Given the description of an element on the screen output the (x, y) to click on. 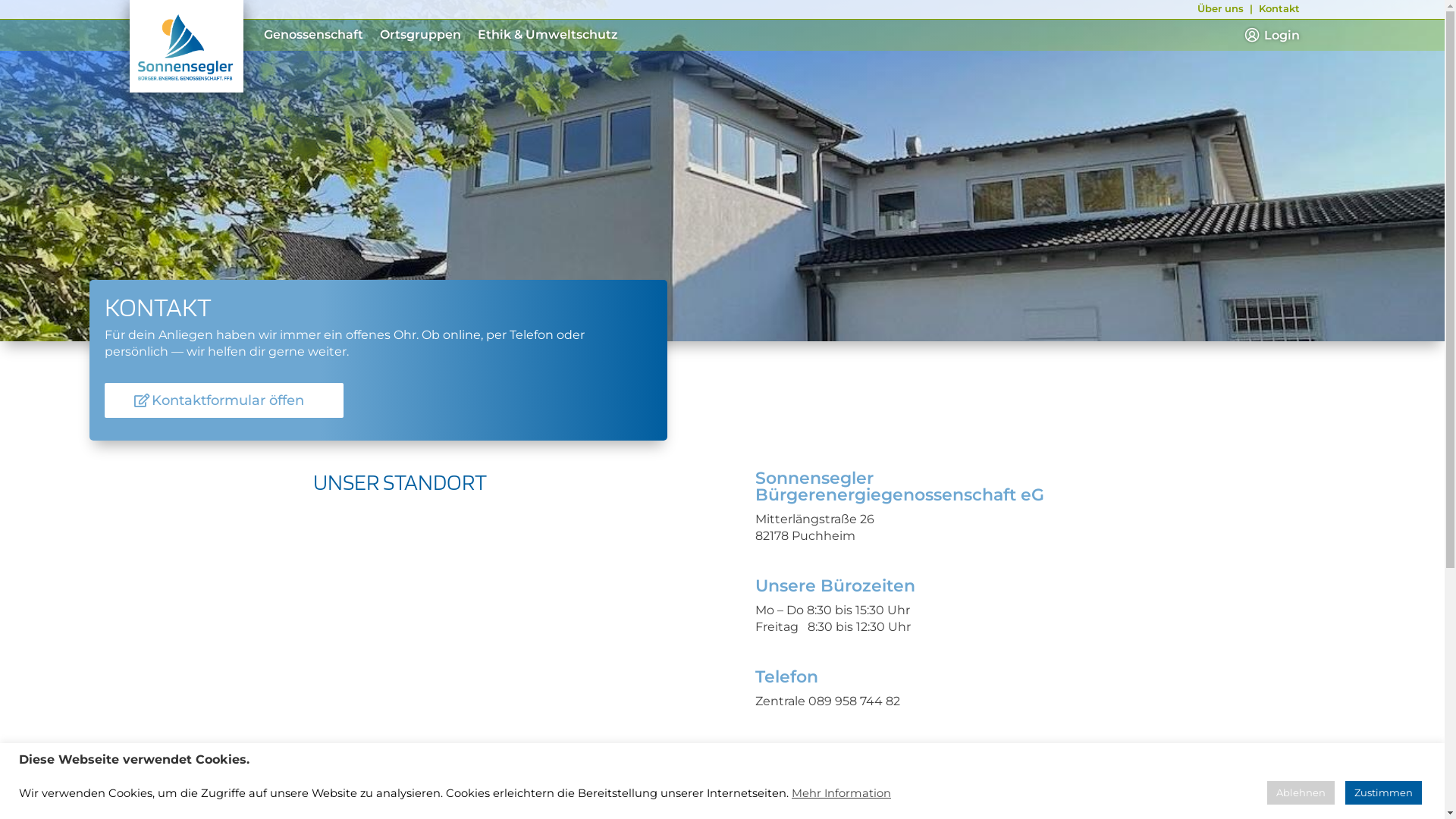
user icon2 Element type: hover (1251, 34)
Zustimmen Element type: text (1383, 792)
Ethik & Umweltschutz Element type: text (547, 37)
Mehr Information Element type: text (841, 792)
Ablehnen Element type: text (1300, 792)
Kontakt Element type: text (1278, 8)
sonnensegler_buergerenergiegenossenschaft-logo Element type: hover (185, 48)
Genossenschaft Element type: text (313, 37)
Ortsgruppen Element type: text (419, 37)
